Given the description of an element on the screen output the (x, y) to click on. 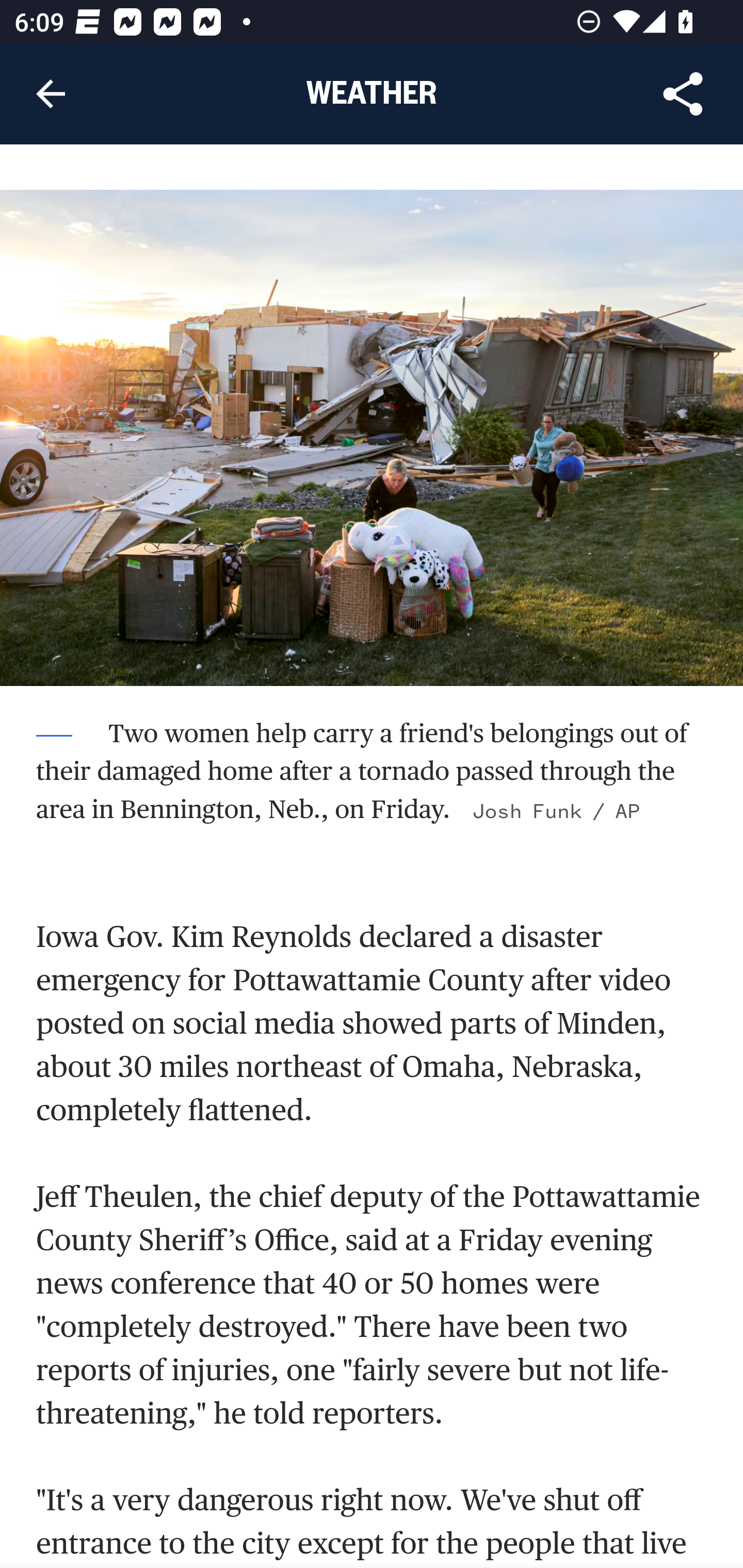
Navigate up (50, 93)
Share Article, button (683, 94)
